Given the description of an element on the screen output the (x, y) to click on. 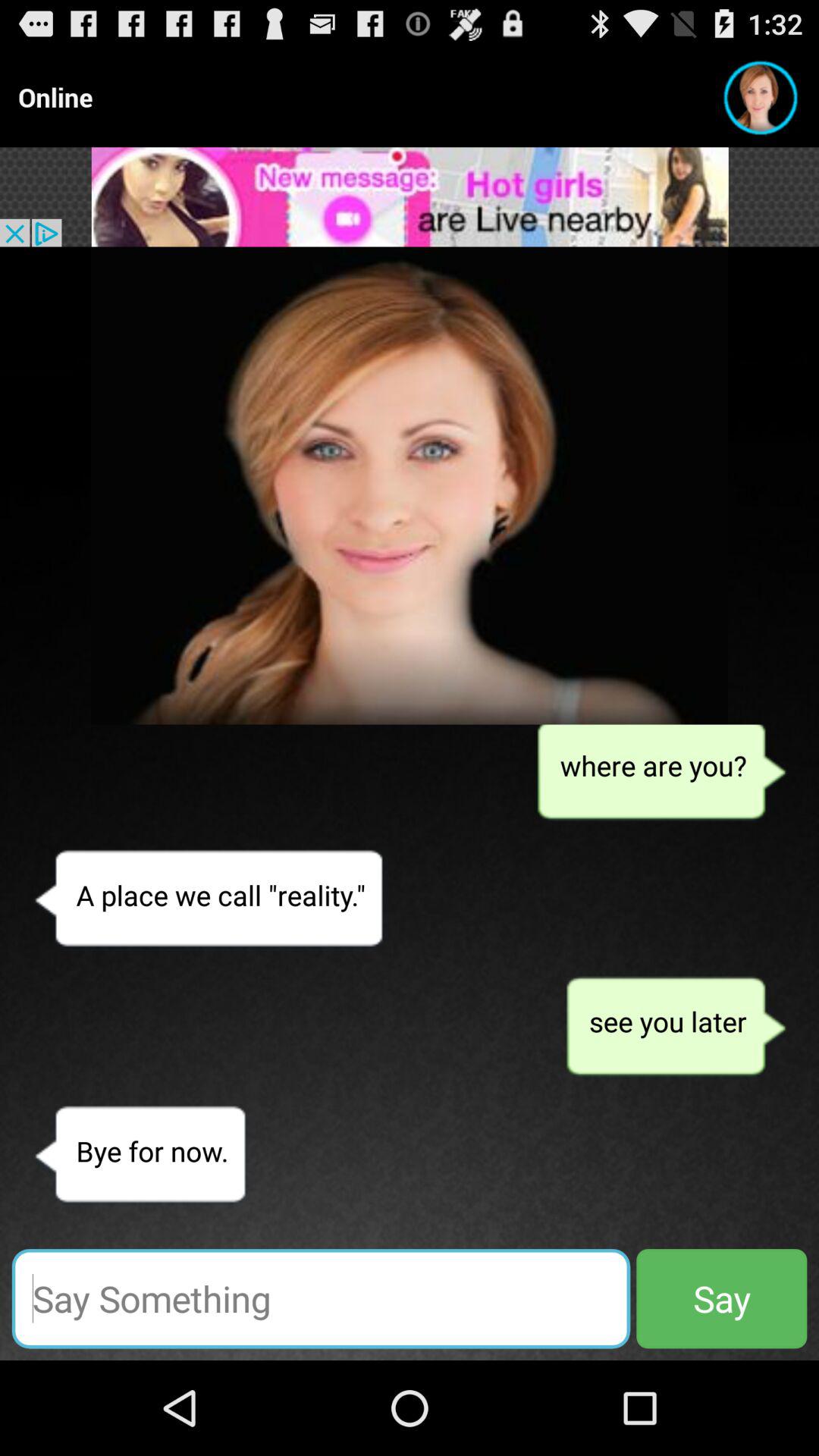
view advertisement (409, 196)
